Given the description of an element on the screen output the (x, y) to click on. 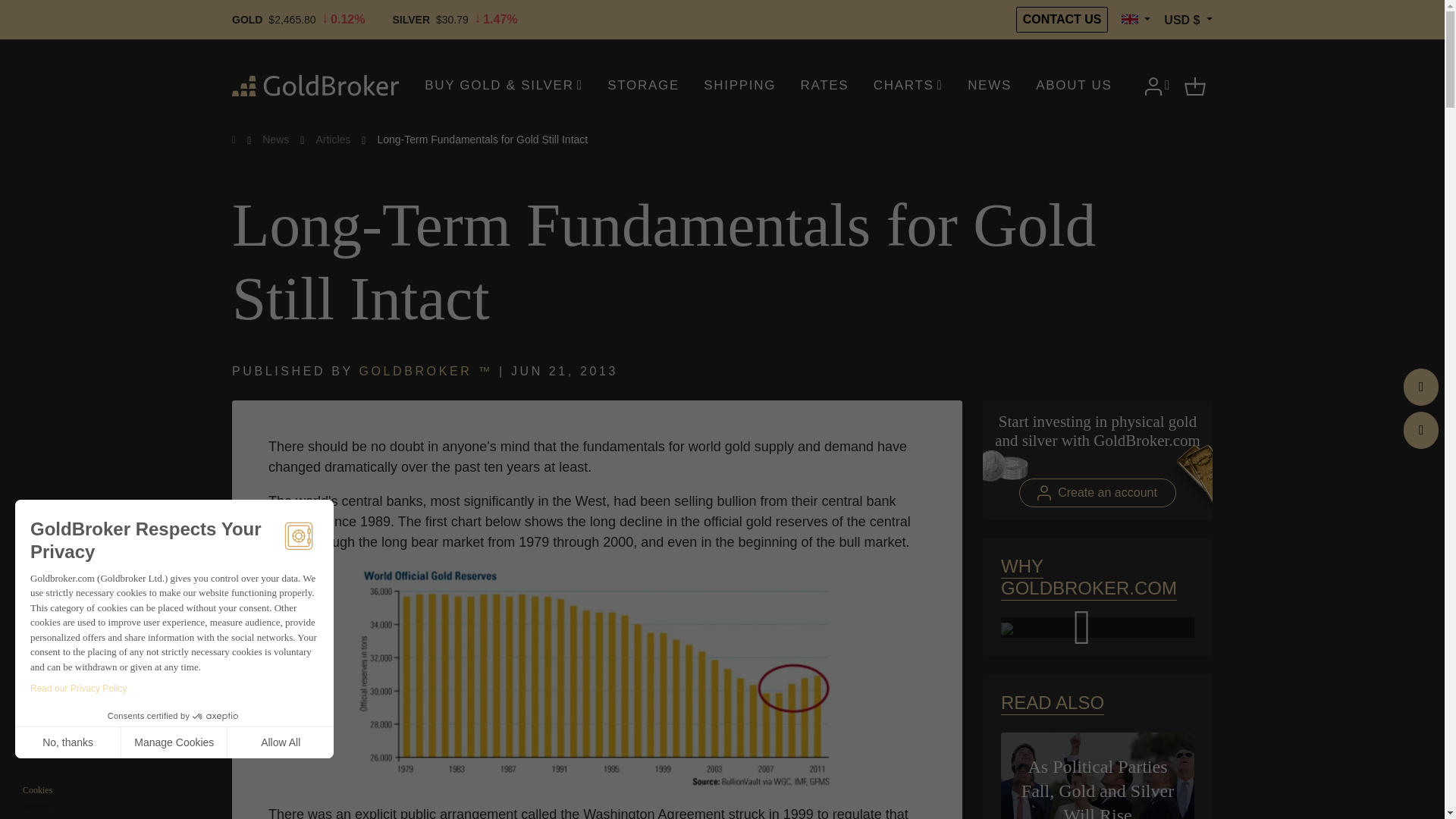
0 (117, 767)
World official gold reserves (597, 678)
NEWS (988, 85)
United Kingdom (1129, 19)
RATES (824, 85)
English (1135, 19)
US Dollar (1187, 19)
SHIPPING (740, 85)
Cart (1194, 85)
CHARTS (908, 85)
ABOUT US (1073, 85)
CONTACT US (1062, 19)
STORAGE (642, 85)
12:00:00 AM (564, 370)
